Given the description of an element on the screen output the (x, y) to click on. 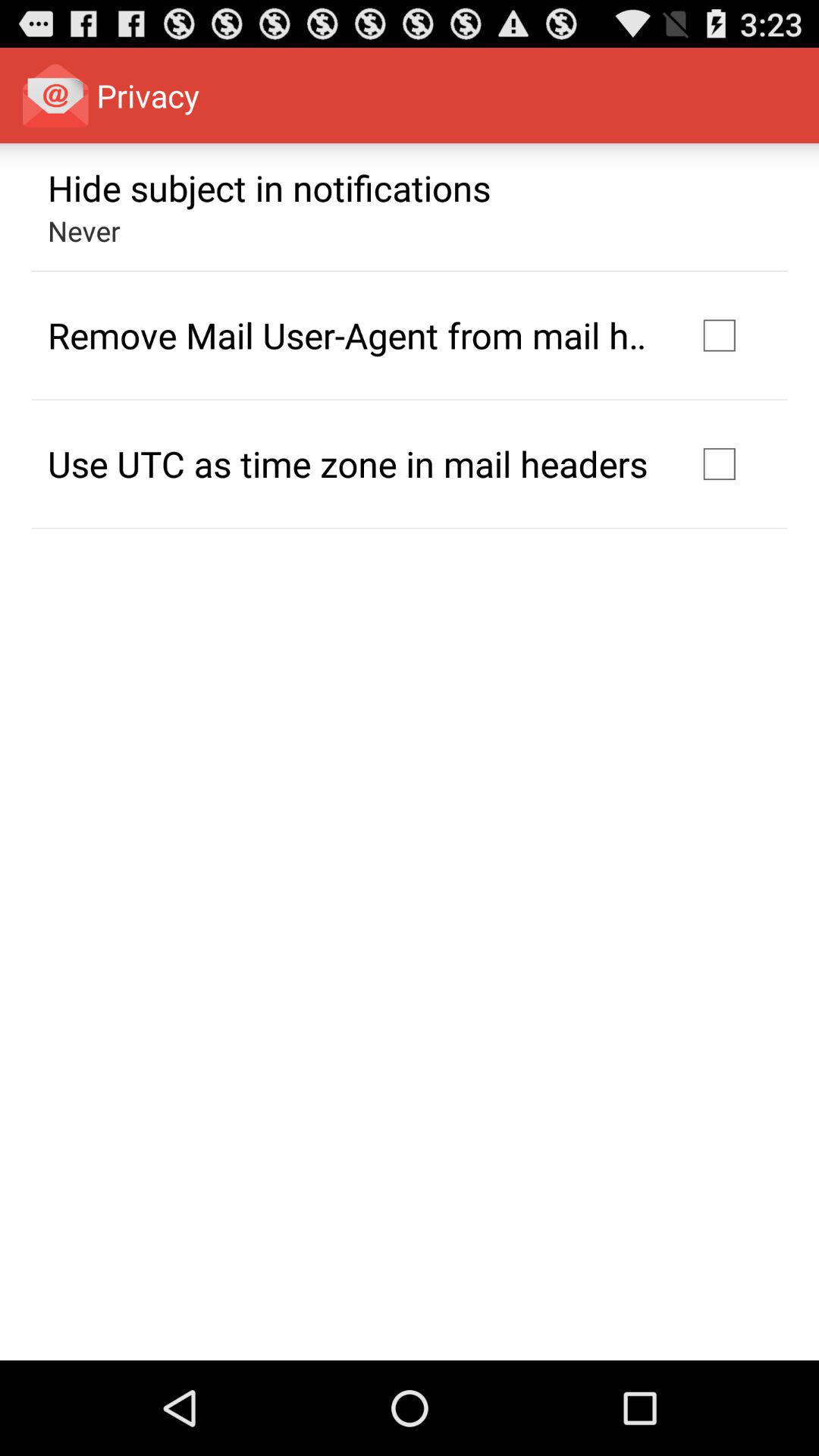
jump until the hide subject in icon (268, 187)
